Given the description of an element on the screen output the (x, y) to click on. 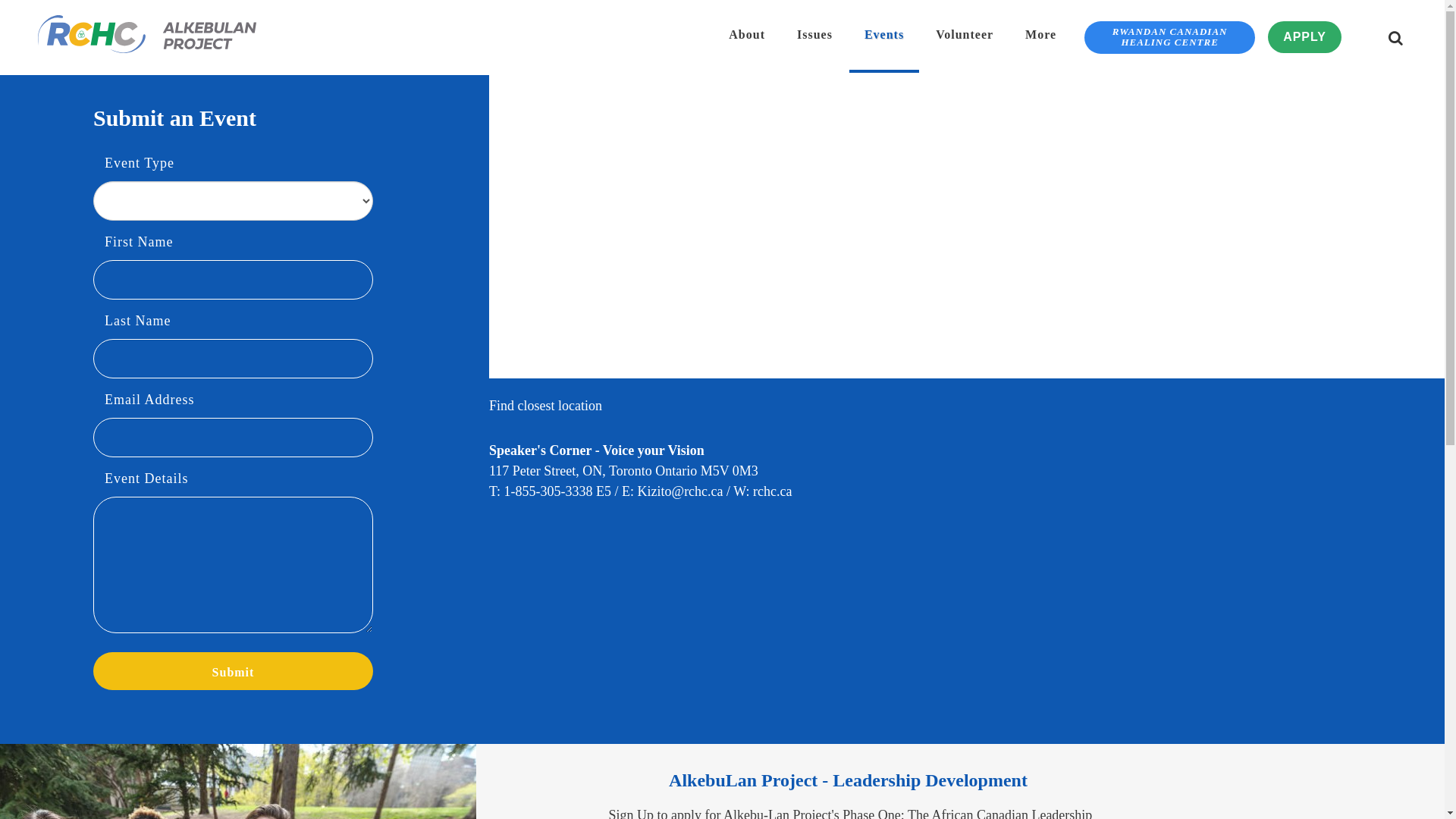
More Element type: text (1040, 34)
Kizito@rchc.ca Element type: text (680, 490)
Volunteer Element type: text (964, 34)
Submit Element type: text (233, 671)
Find closest location Element type: text (545, 405)
APPLY Element type: text (1304, 37)
Issues Element type: text (814, 34)
About Element type: text (746, 34)
RWANDAN CANADIAN HEALING CENTRE Element type: text (1169, 37)
Speaker's Corner - Voice your Vision Element type: text (596, 450)
rchc.ca Element type: text (772, 490)
Events Element type: text (884, 34)
